Given the description of an element on the screen output the (x, y) to click on. 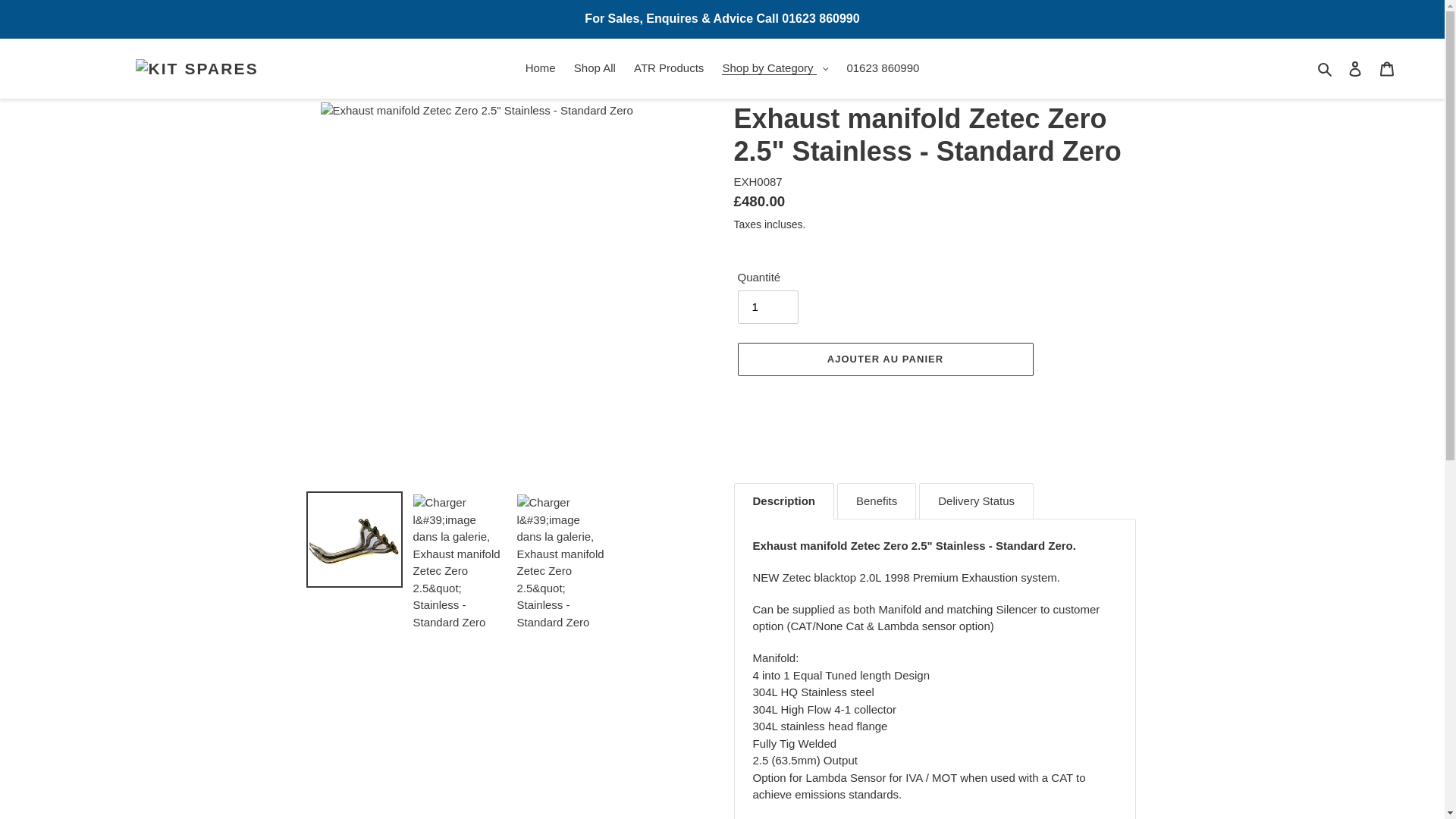
Shop by Category (774, 68)
ATR Products (668, 68)
Shop All (594, 68)
Home (540, 68)
1 (766, 306)
